Given the description of an element on the screen output the (x, y) to click on. 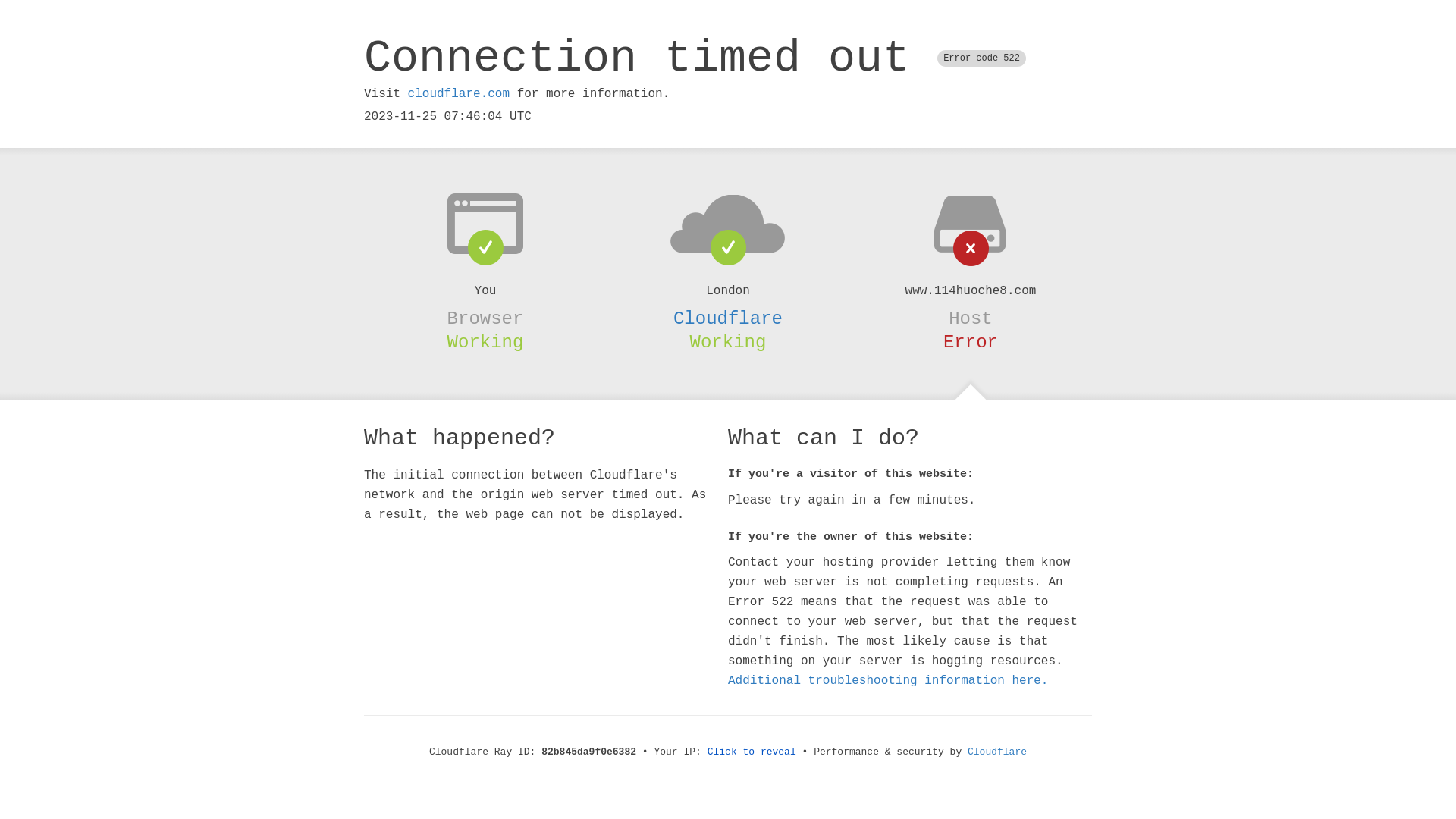
Additional troubleshooting information here. Element type: text (888, 680)
Click to reveal Element type: text (751, 751)
Cloudflare Element type: text (727, 318)
cloudflare.com Element type: text (458, 93)
Cloudflare Element type: text (996, 751)
